Given the description of an element on the screen output the (x, y) to click on. 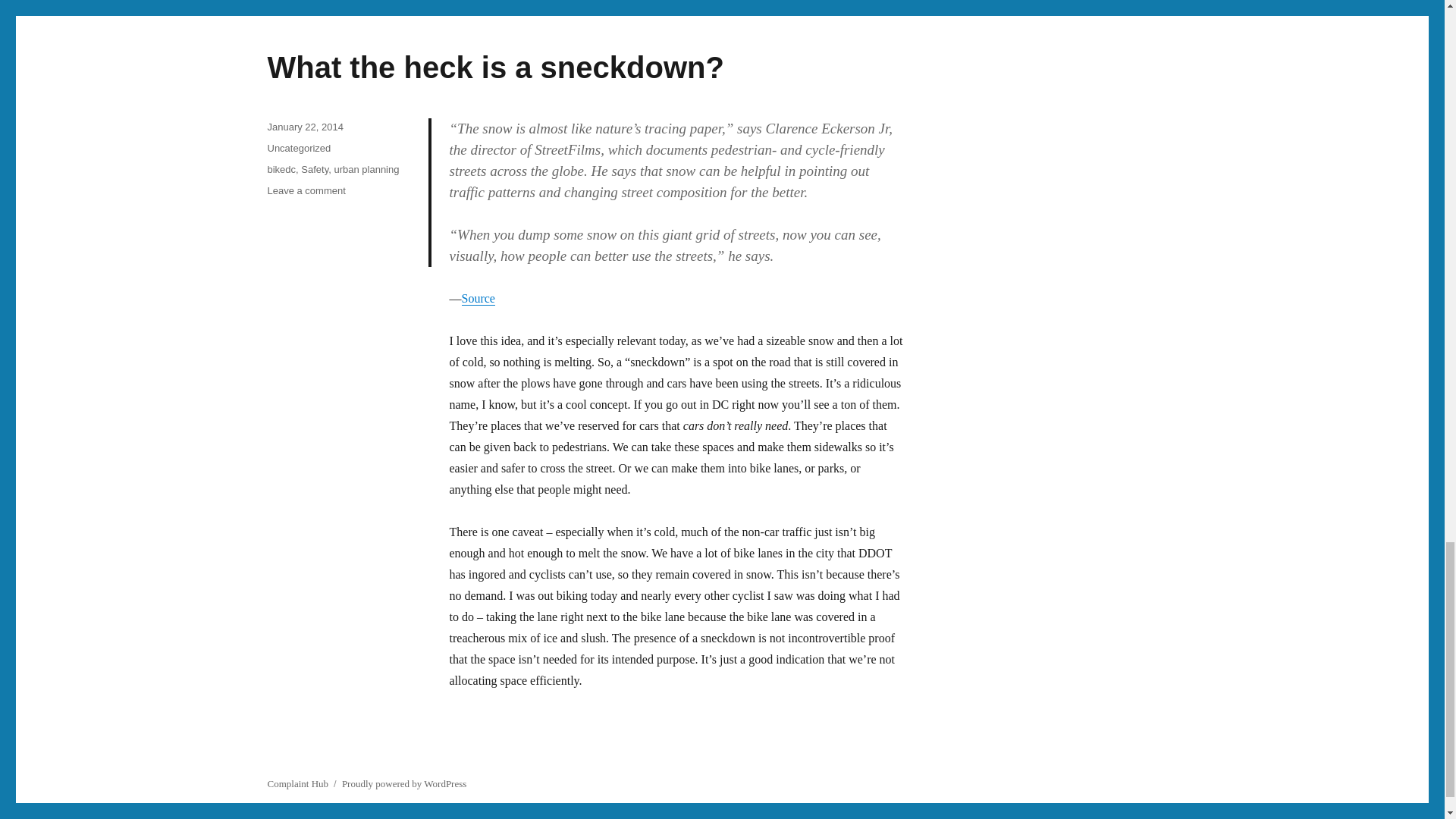
urban planning (305, 190)
January 22, 2014 (365, 169)
What the heck is a sneckdown? (304, 126)
Source (494, 67)
Uncategorized (478, 297)
bikedc (298, 147)
Safety (280, 169)
